Given the description of an element on the screen output the (x, y) to click on. 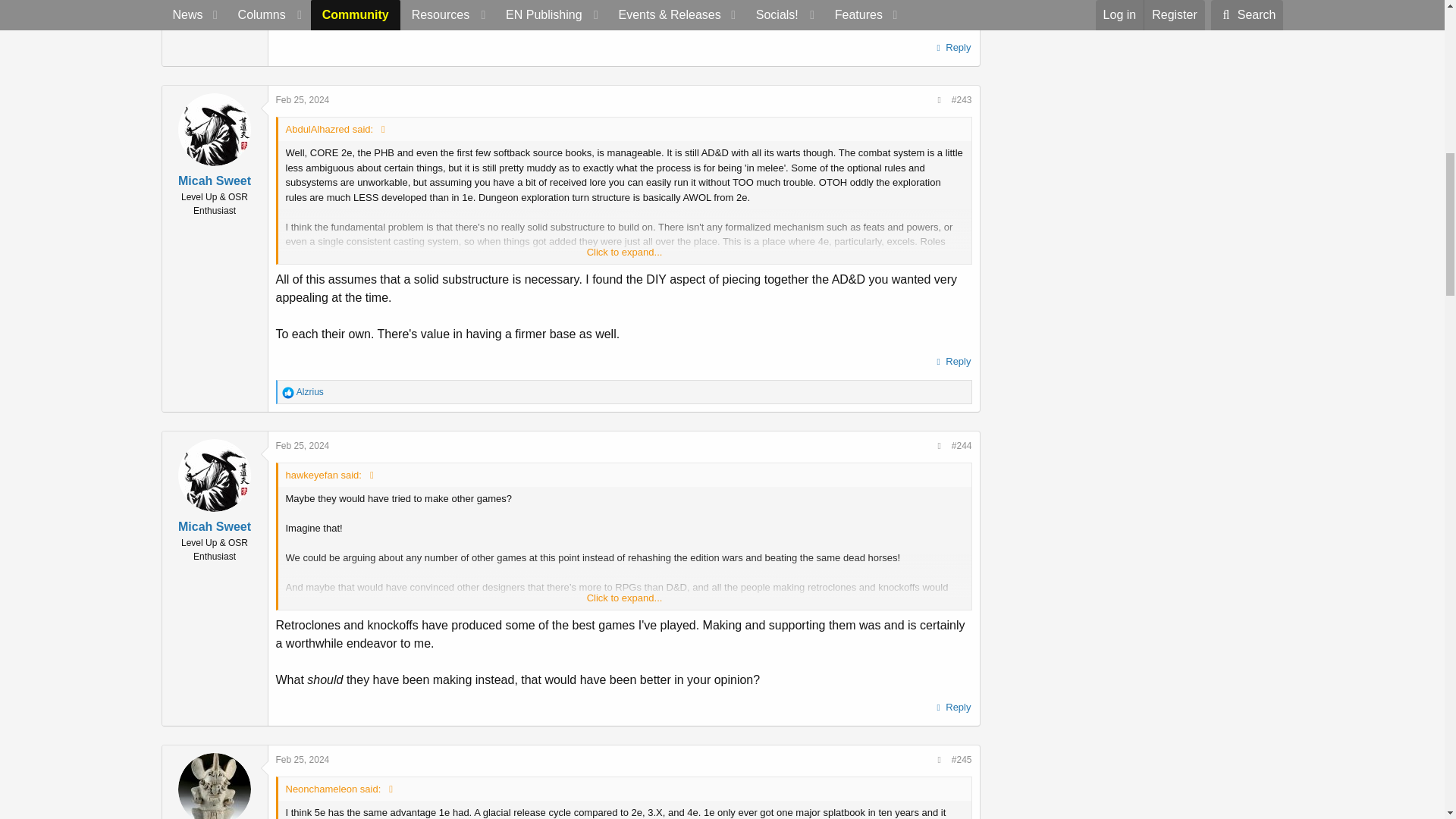
Feb 25, 2024 at 6:42 AM (303, 100)
Like (288, 392)
Reply, quoting this message (952, 707)
Feb 25, 2024 at 6:45 AM (303, 445)
Reply, quoting this message (952, 47)
Reply, quoting this message (952, 361)
